Given the description of an element on the screen output the (x, y) to click on. 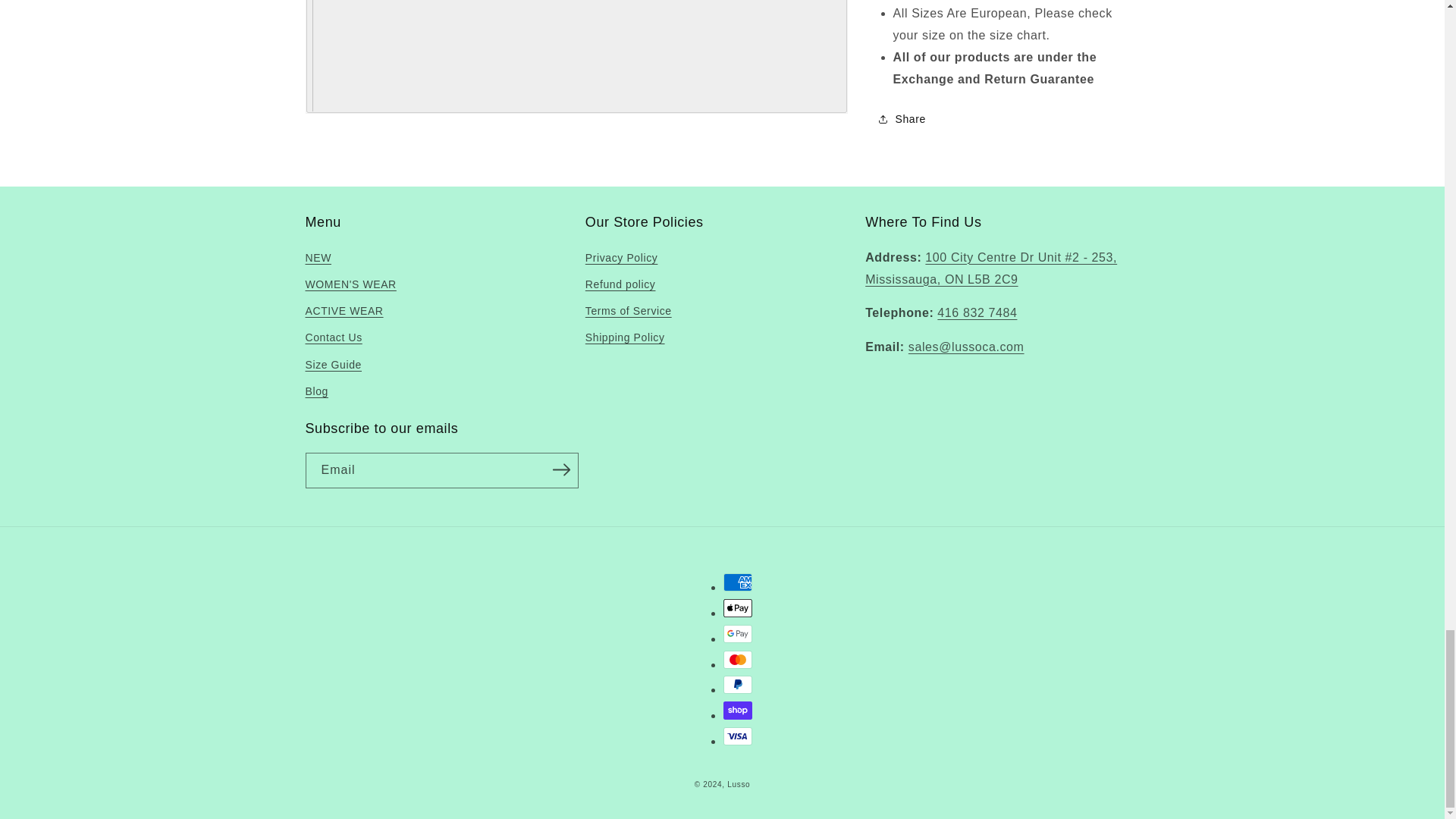
American Express (737, 582)
Google Pay (737, 633)
Location (990, 267)
PayPal (737, 684)
Apple Pay (737, 607)
Visa (737, 736)
Mastercard (737, 659)
tel:416 832 7484 (976, 312)
Shop Pay (737, 710)
